Given the description of an element on the screen output the (x, y) to click on. 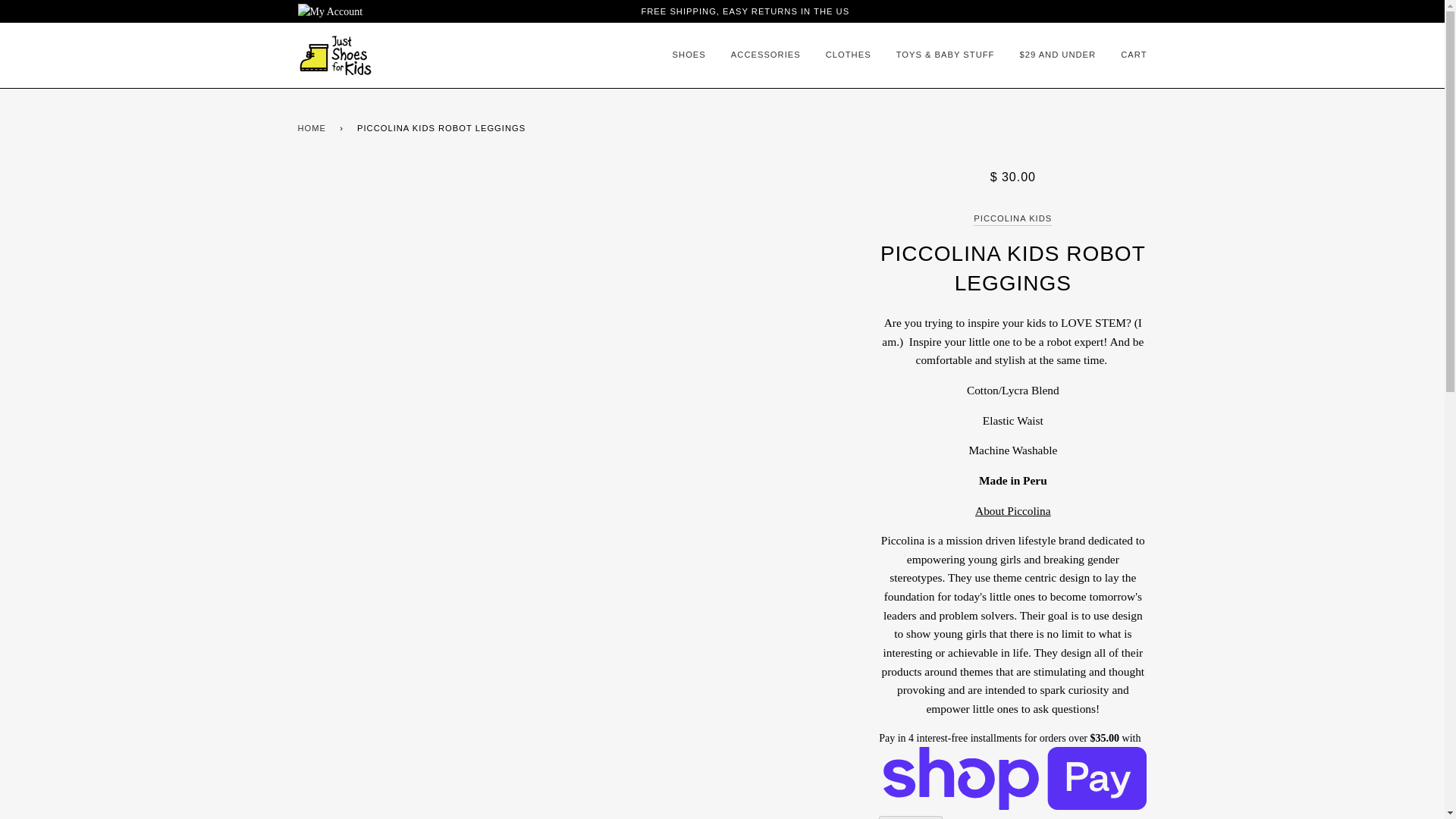
Search (1137, 11)
CART (1122, 54)
FREE SHIPPING, EASY RETURNS IN THE US (744, 10)
CLOTHES (836, 54)
Back to the frontpage (314, 128)
SHOES (685, 54)
ACCESSORIES (753, 54)
